Given the description of an element on the screen output the (x, y) to click on. 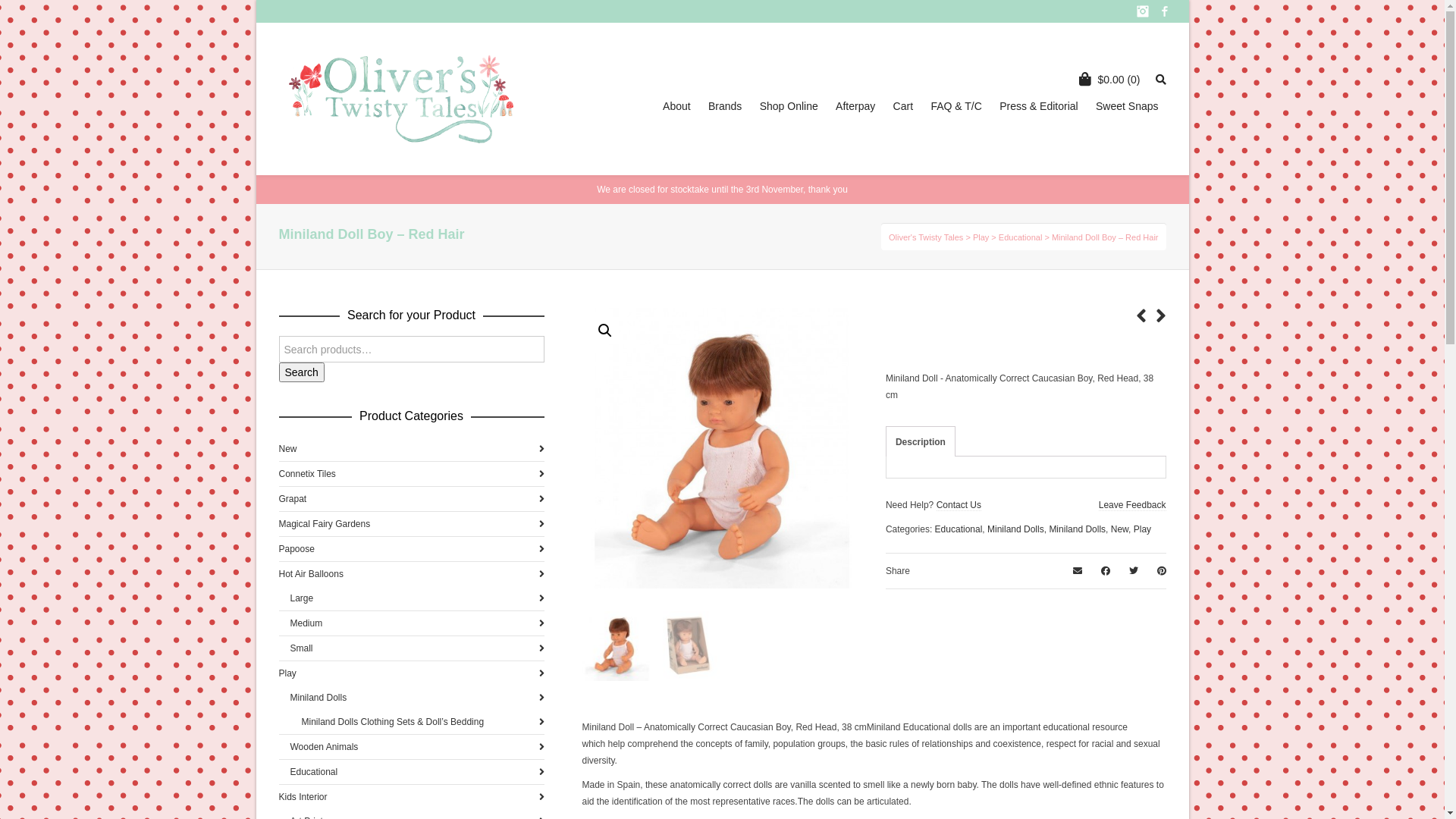
Miniland Dolls Element type: text (1076, 529)
Play Element type: text (980, 236)
Sweet Snaps Element type: text (1127, 105)
Afterpay Element type: text (855, 105)
Educational Element type: text (958, 529)
Miniland Dolls Element type: text (1015, 529)
FAQ & T/C Element type: text (955, 105)
Grapat Element type: text (411, 498)
Miniland Dolls Element type: text (416, 697)
Brands Element type: text (724, 105)
Medium Element type: text (416, 623)
Instagram Element type: text (1141, 11)
Search Element type: text (301, 372)
Facebook Element type: text (1164, 11)
$0.00 (0) Element type: text (1113, 79)
Wooden Animals Element type: text (416, 746)
Play Element type: text (411, 673)
Press & Editorial Element type: text (1038, 105)
Contact Us Element type: text (958, 505)
Leave Feedback Element type: text (1132, 505)
Description Element type: text (920, 441)
About Element type: text (676, 105)
New Element type: text (411, 448)
Educational Element type: text (1020, 236)
Cart Element type: text (902, 105)
Educational Element type: text (416, 771)
Small Element type: text (416, 648)
Connetix Tiles Element type: text (411, 473)
Oliver's Twisty Tales Element type: text (925, 236)
Play Element type: text (1142, 529)
Shop Online Element type: text (788, 105)
Papoose Element type: text (411, 548)
Kids Interior Element type: text (411, 796)
Large Element type: text (416, 598)
Magical Fairy Gardens Element type: text (411, 523)
New Element type: text (1119, 529)
Hot Air Balloons Element type: text (411, 573)
